Given the description of an element on the screen output the (x, y) to click on. 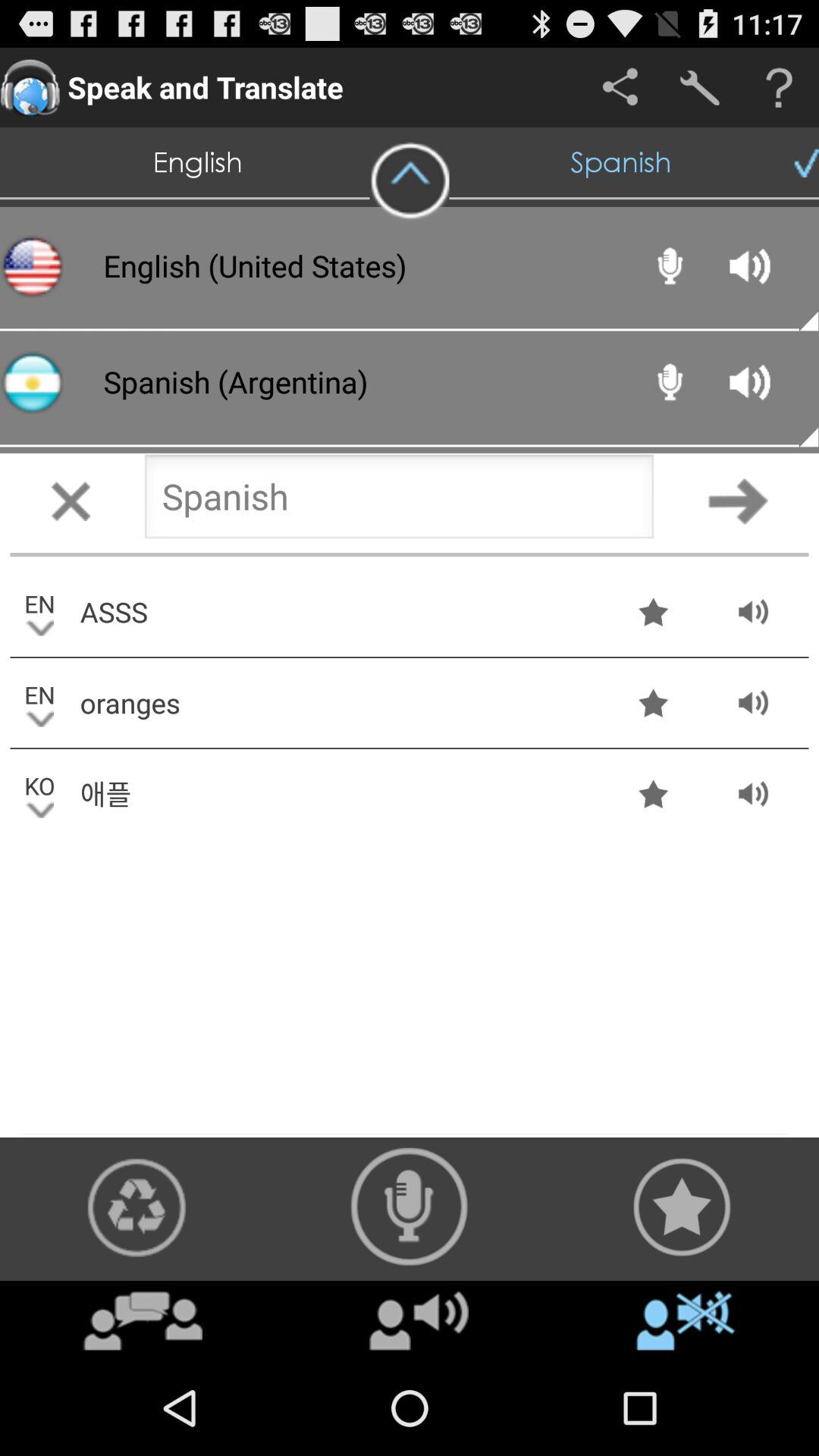
choose the   item (418, 1320)
